Given the description of an element on the screen output the (x, y) to click on. 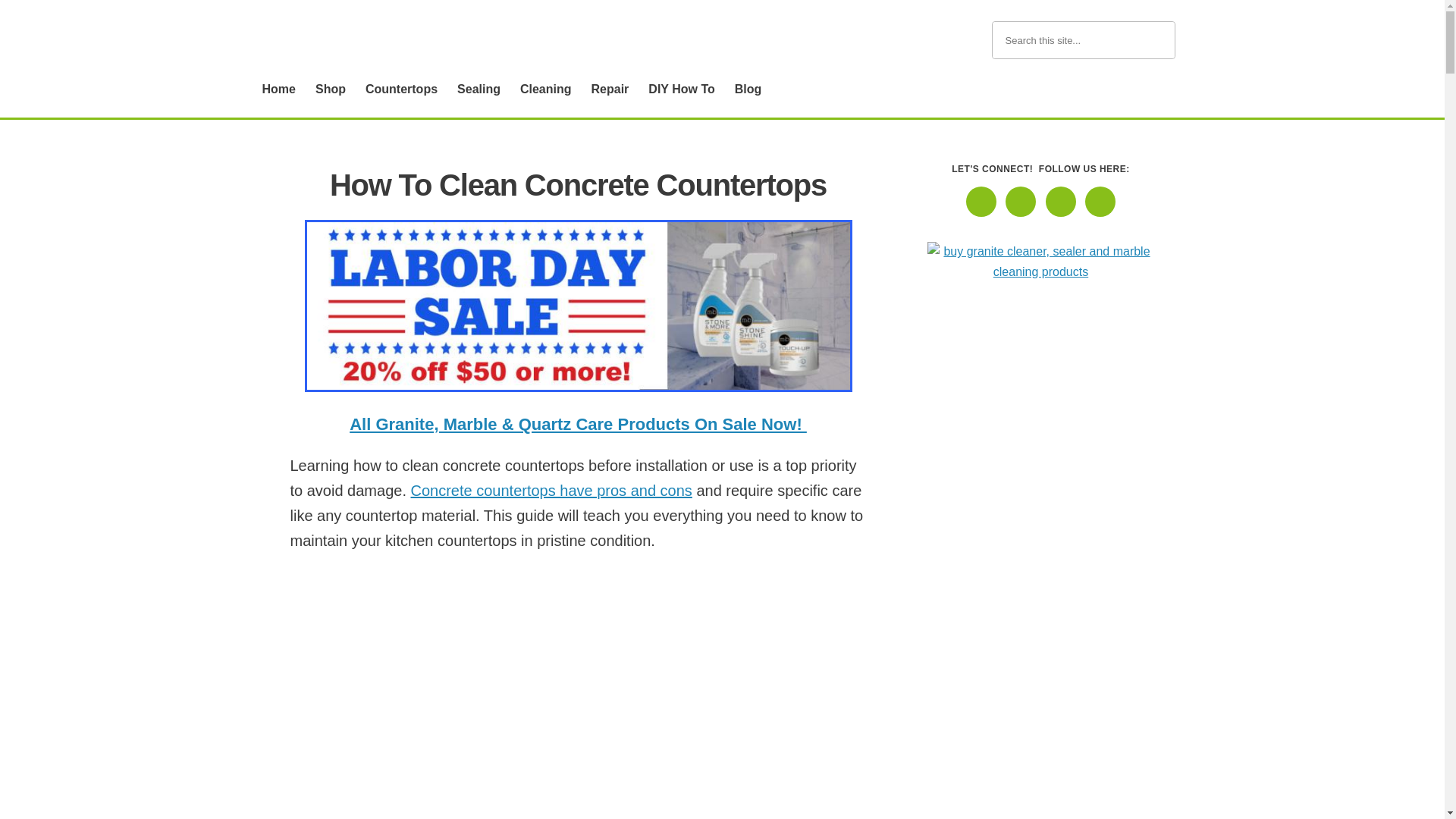
Countertop Specialty RSS Feed (1099, 201)
DuckDuckGo Search (1155, 40)
Blog (752, 89)
Concrete countertops have pros and cons (551, 490)
Countertop Specialty on Twitter (1060, 201)
DuckDuckGo Search (1155, 40)
DIY How To (685, 89)
Labor Day Sale banner 20off50 products 800 (577, 306)
MY WEBSITE (385, 39)
